Given the description of an element on the screen output the (x, y) to click on. 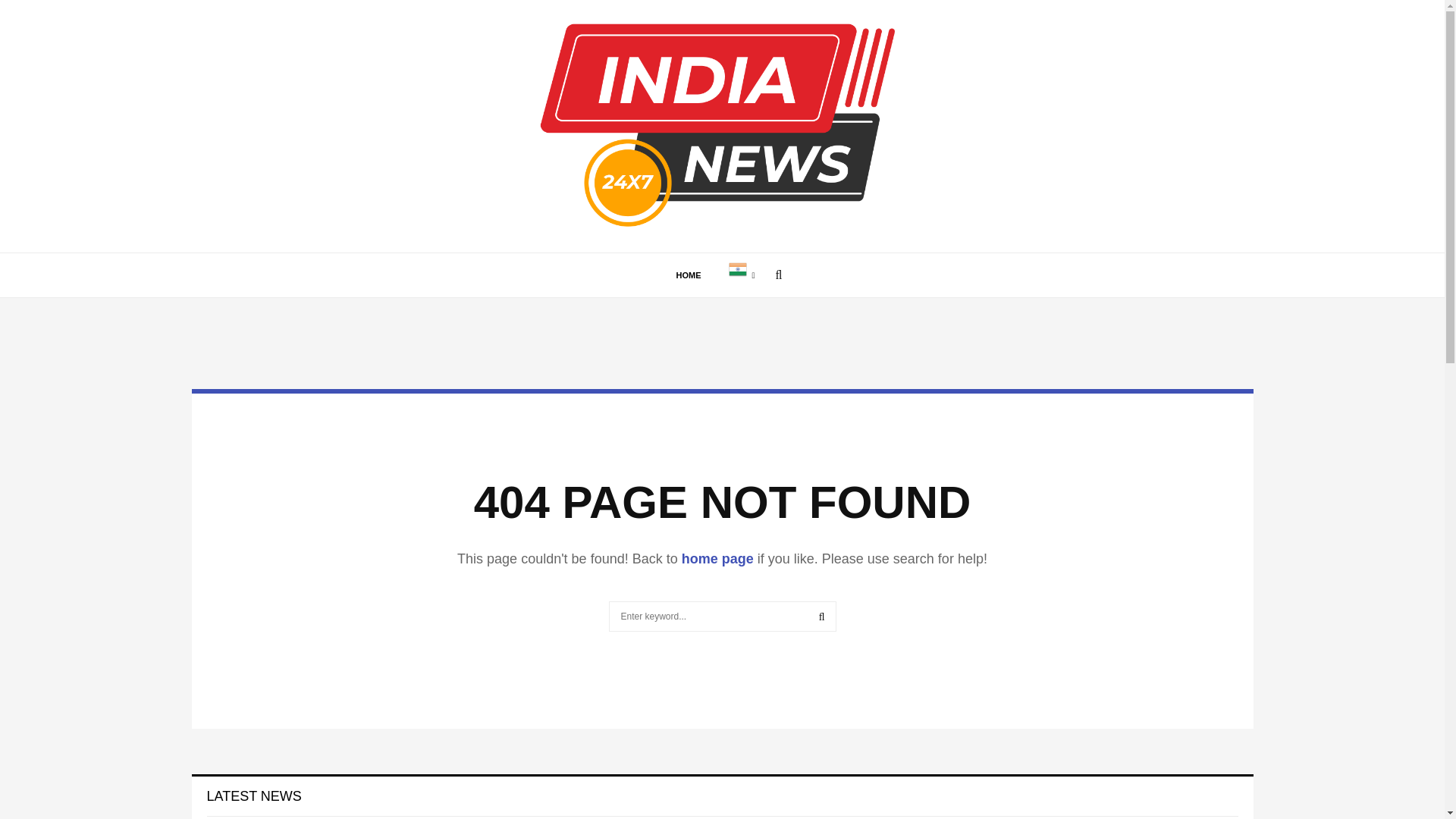
LATEST NEWS (253, 795)
home page (717, 558)
HOME (688, 275)
SEARCH (821, 616)
Latest News (253, 795)
